Given the description of an element on the screen output the (x, y) to click on. 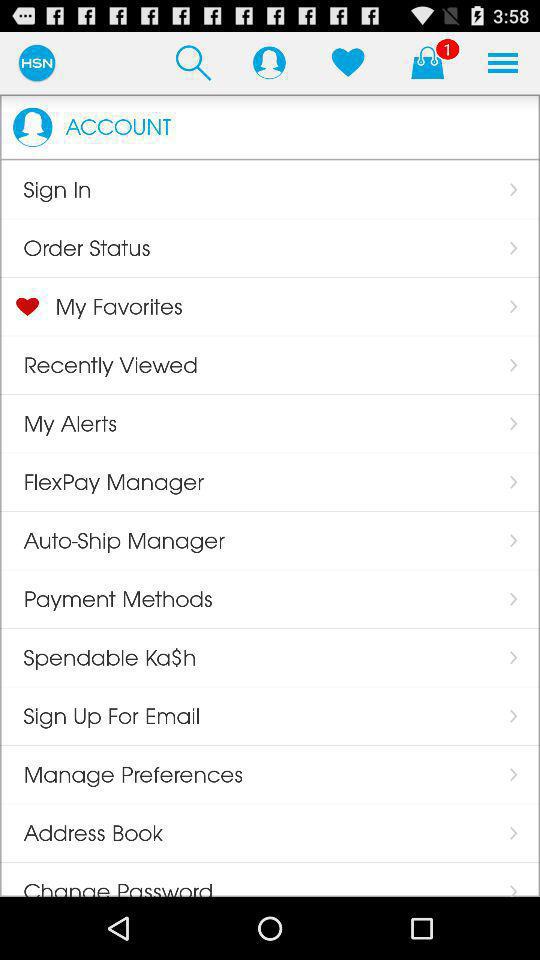
click the app below address book icon (106, 879)
